Given the description of an element on the screen output the (x, y) to click on. 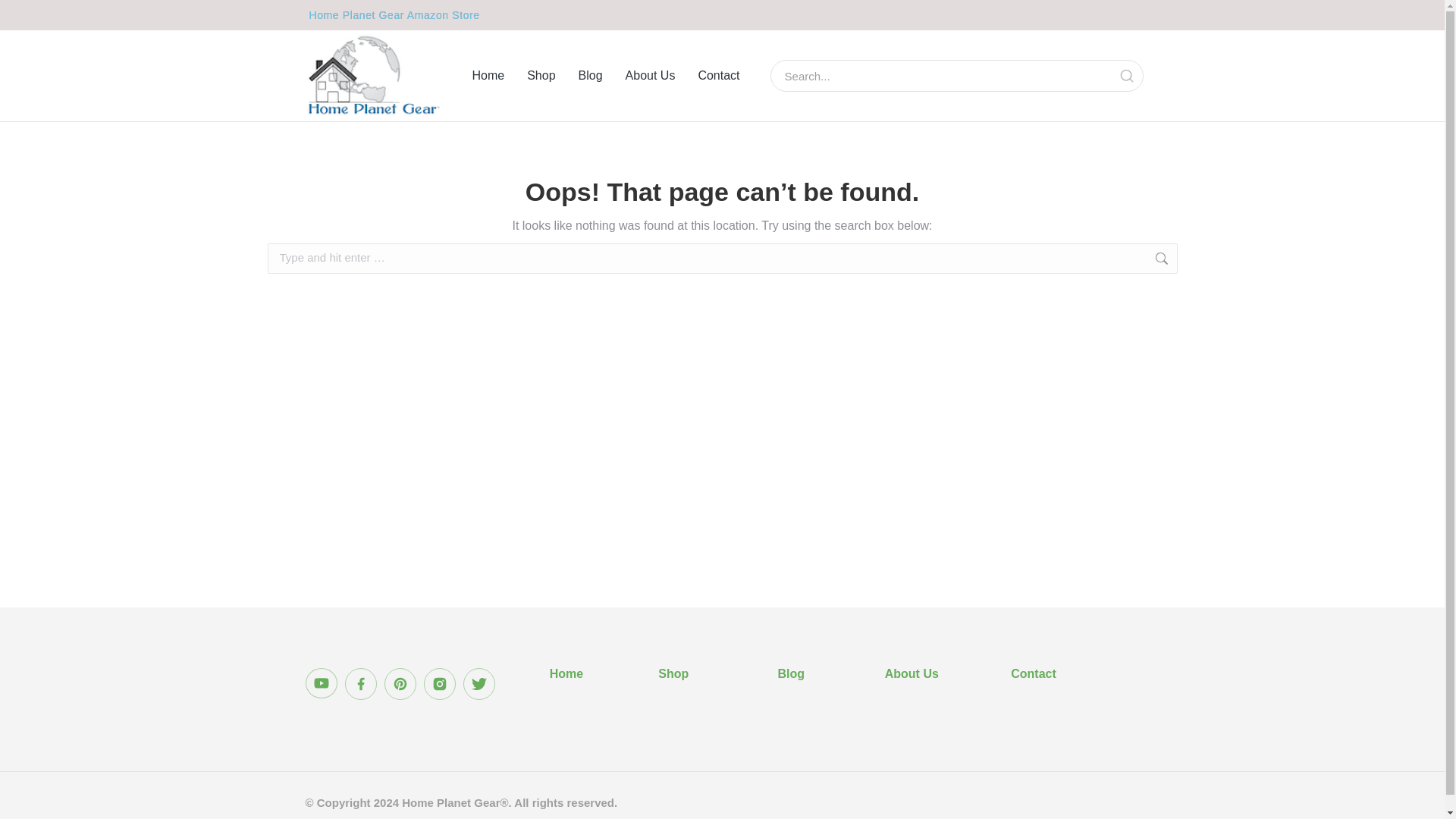
Search (941, 75)
Go! (1200, 259)
About Us (912, 673)
Shop (540, 75)
Shop (673, 673)
Go! (1200, 259)
About Us (650, 75)
Go! (1200, 259)
Contact (1033, 673)
Home (487, 75)
Home Planet Gear Amazon Store (394, 15)
Blog (590, 75)
Search (1125, 75)
Contact (718, 75)
Blog (791, 673)
